Given the description of an element on the screen output the (x, y) to click on. 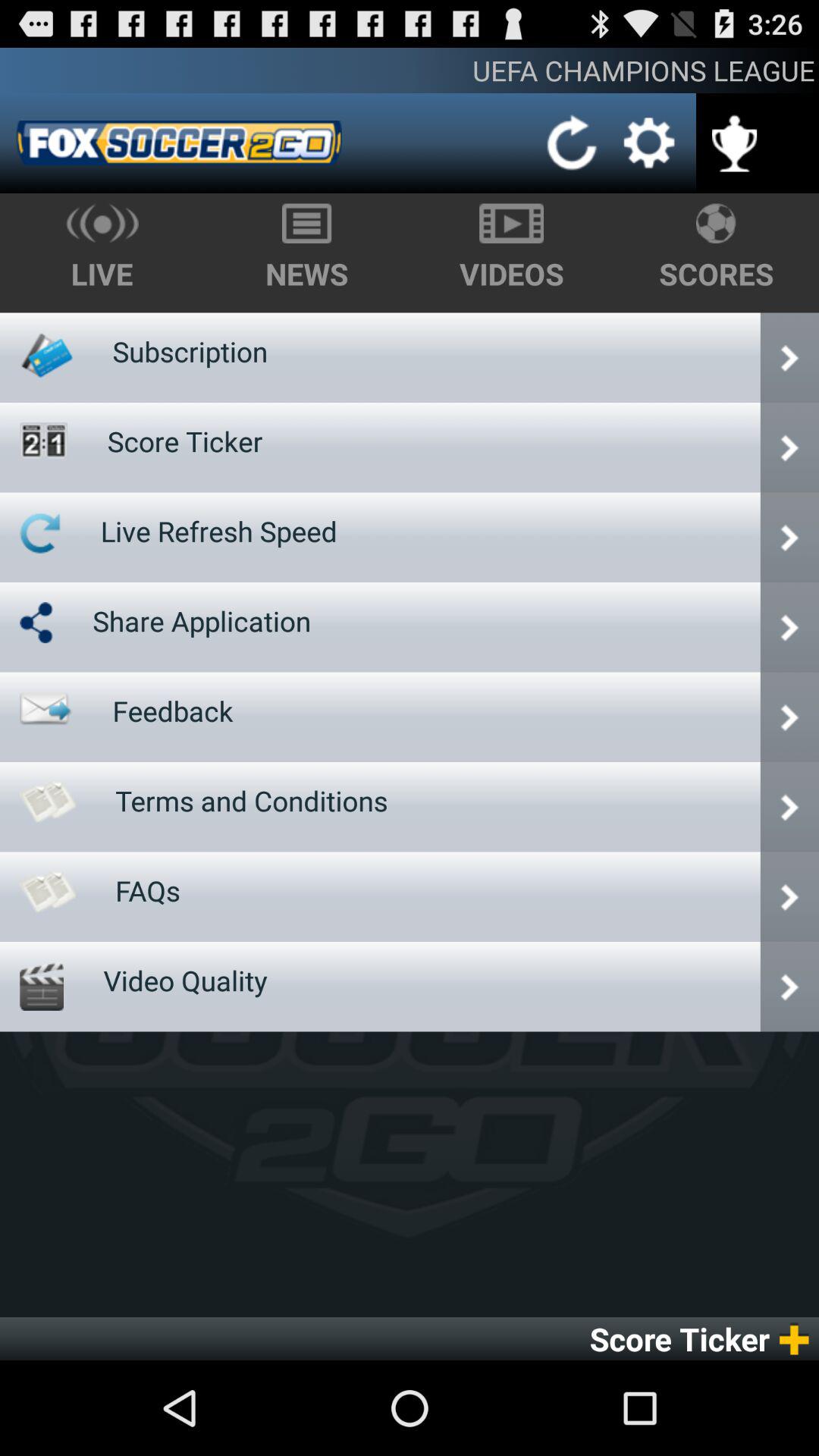
jump to the feedback icon (172, 710)
